Given the description of an element on the screen output the (x, y) to click on. 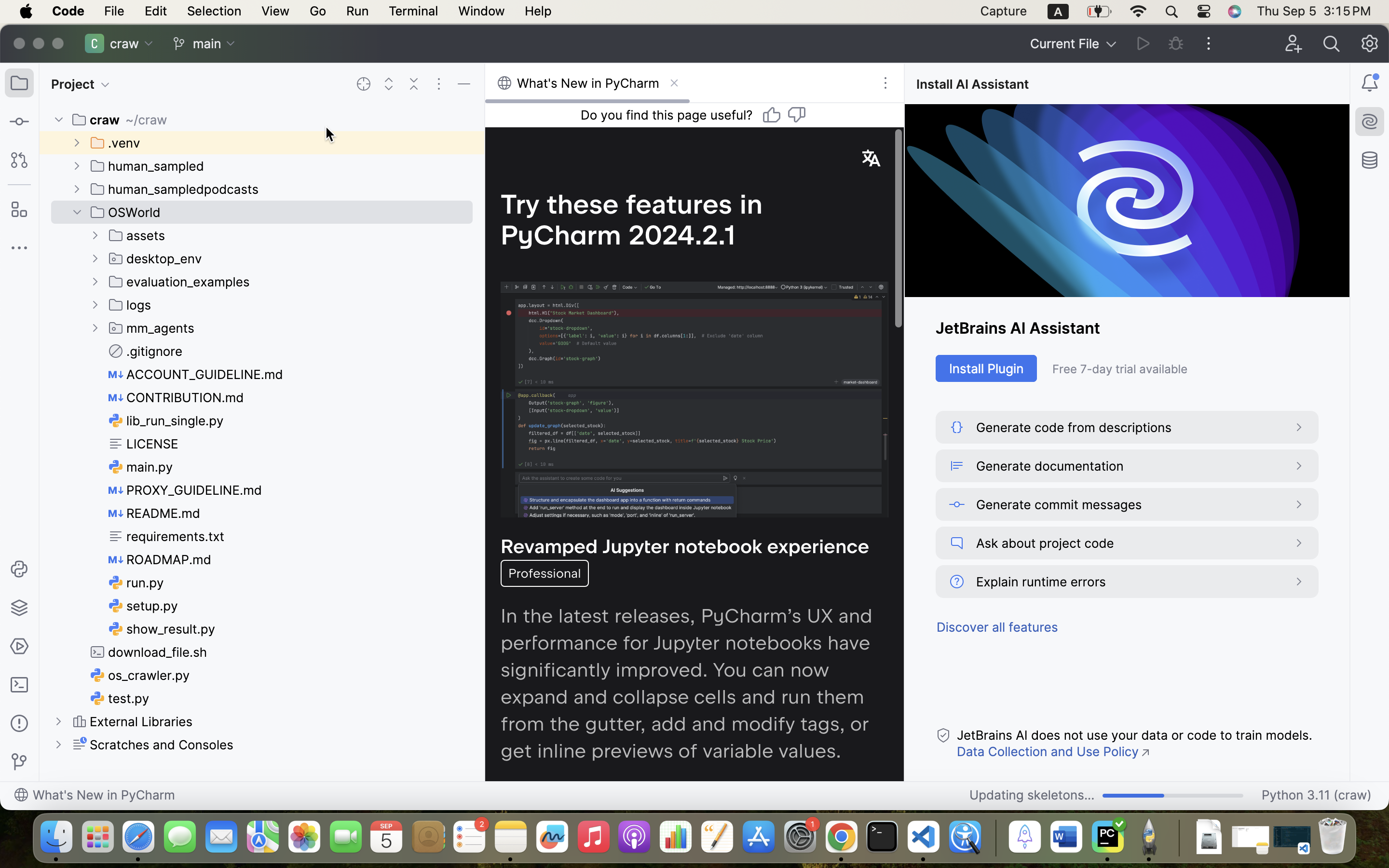
download_file.sh Element type: AXStaticText (148, 651)
CONTRIBUTION.md Element type: AXStaticText (176, 396)
.gitignore Element type: AXStaticText (146, 350)
JetBrains AI does not use your data or code to train models. Data Collection and Use Policy Element type: AXTextField (1133, 743)
human_sampled Element type: AXStaticText (147, 165)
